Given the description of an element on the screen output the (x, y) to click on. 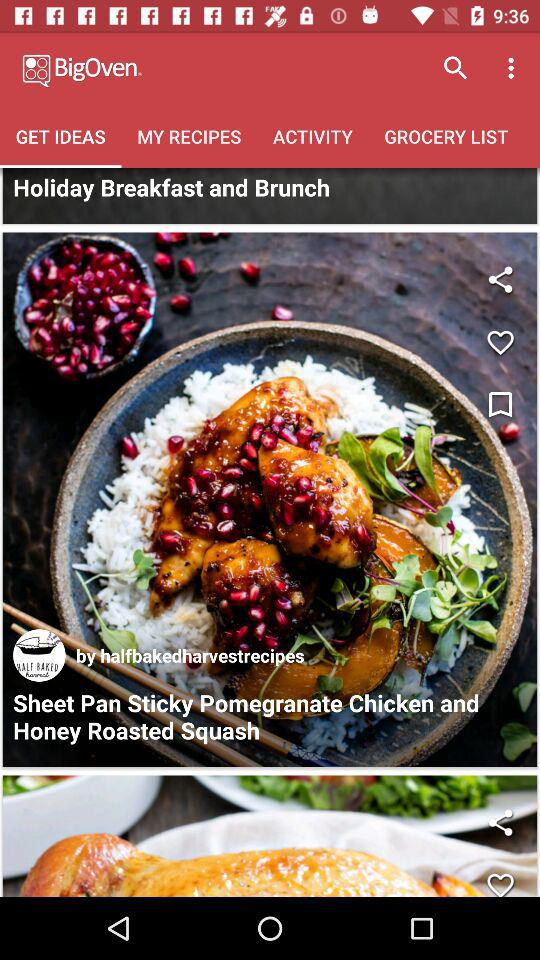
like the article (269, 836)
